Given the description of an element on the screen output the (x, y) to click on. 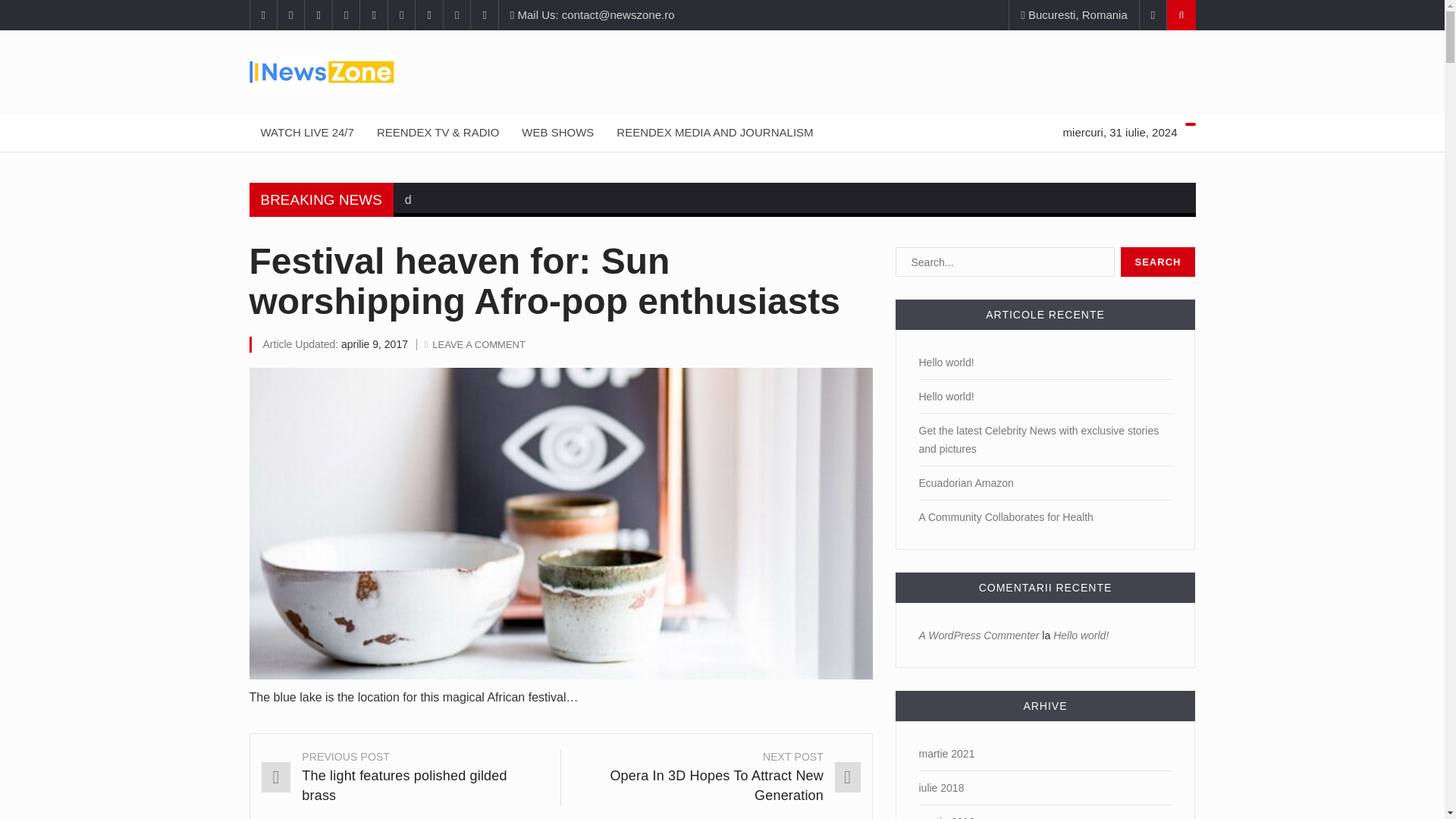
Bucuresti, Romania (1073, 15)
WEB SHOWS (558, 132)
Search (1158, 261)
REENDEX MEDIA AND JOURNALISM (714, 132)
Newszone (721, 71)
Search (1158, 261)
